Given the description of an element on the screen output the (x, y) to click on. 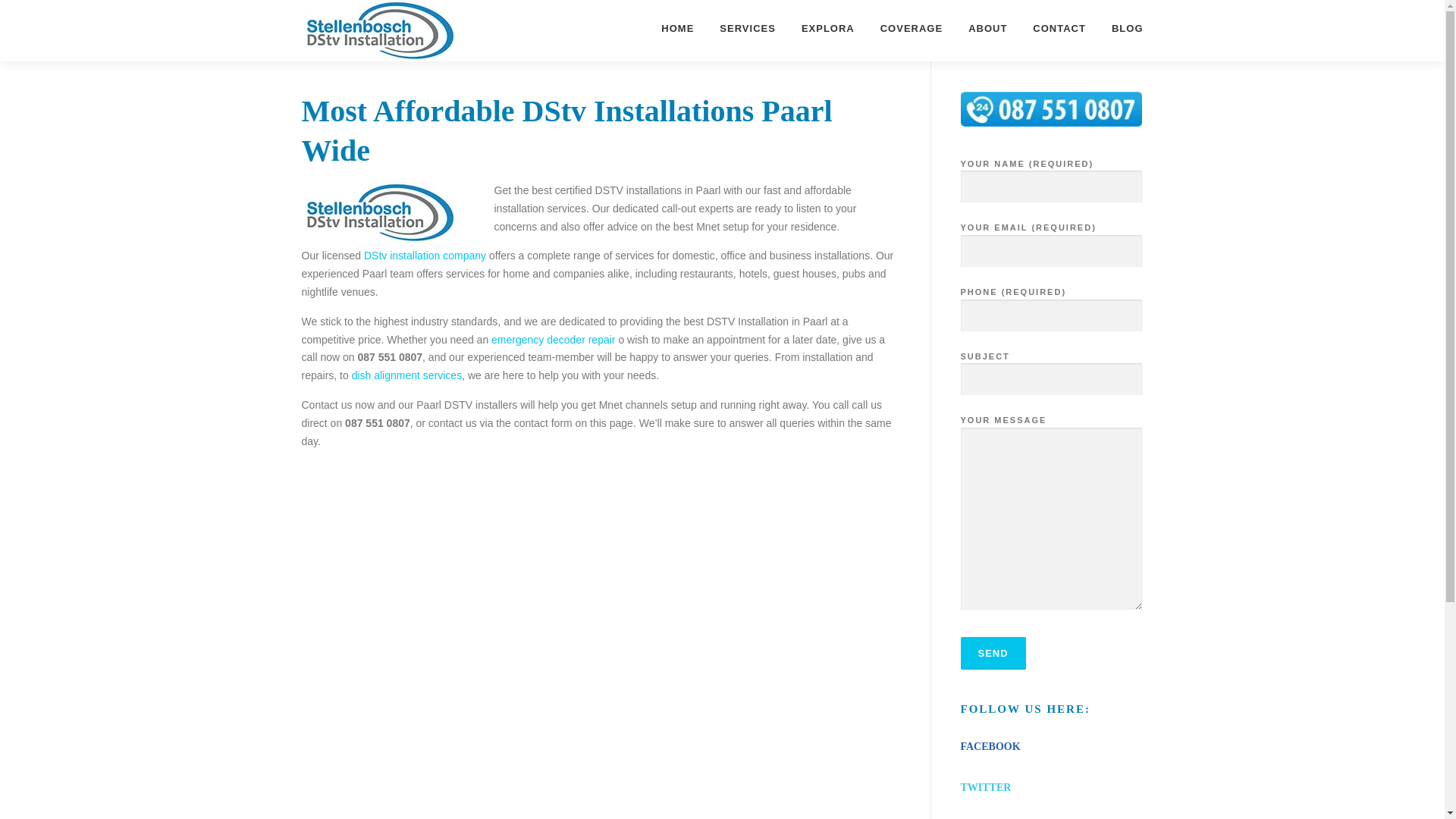
home (426, 255)
EXPLORA (828, 28)
SERVICES (747, 28)
Reputable DSTV Decoder Repairs in Stellenbosch (553, 339)
ABOUT (987, 28)
BLOG (1120, 28)
HOME (676, 28)
Send (992, 653)
emergency decoder repair (553, 339)
Best DSTV Dish Installation in Stellenbosch (407, 375)
DStv installation company (426, 255)
dish alignment services (407, 375)
CONTACT (1059, 28)
FACEBOOK (989, 746)
TWITTER (984, 787)
